Given the description of an element on the screen output the (x, y) to click on. 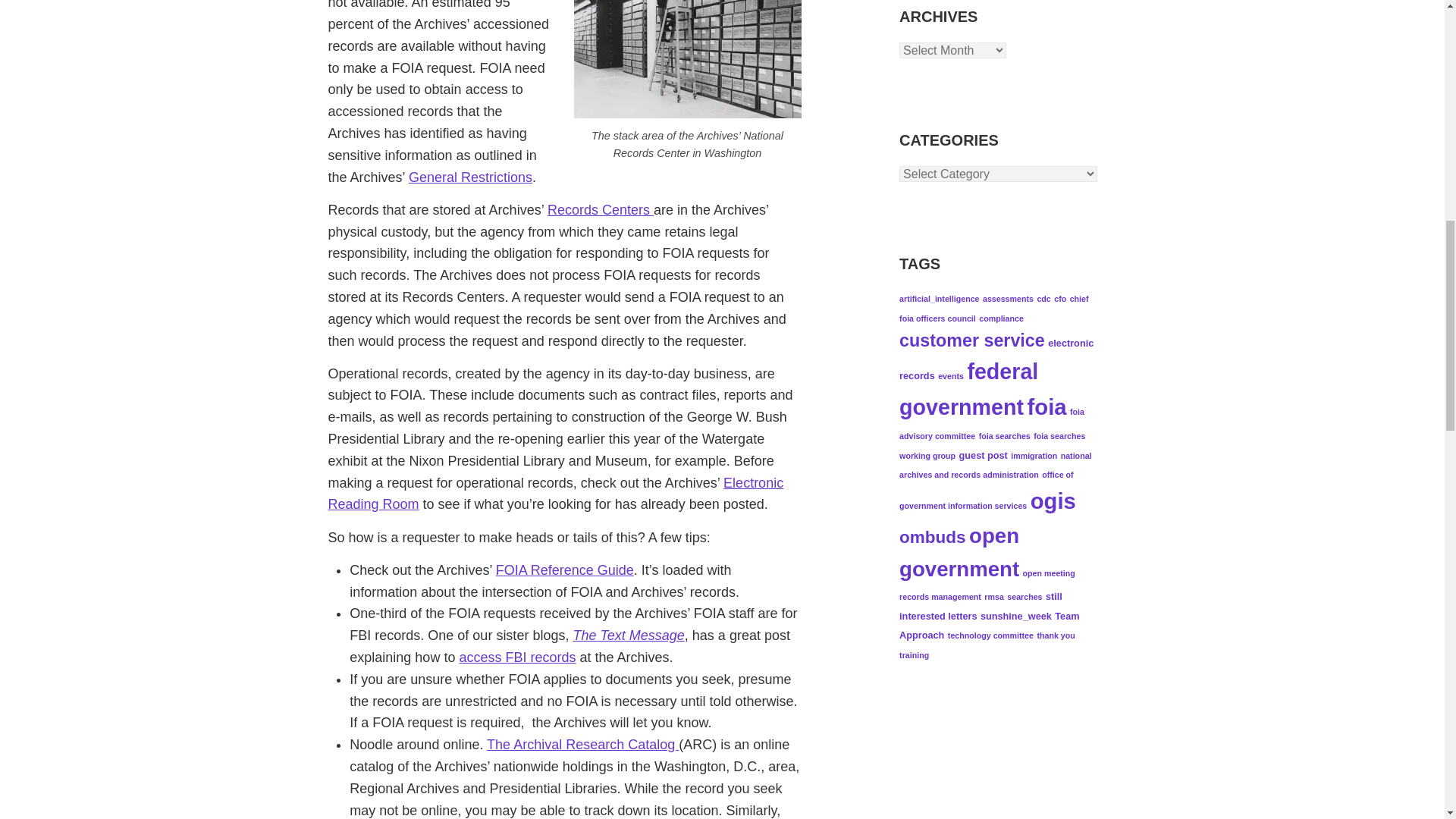
Electronic Reading Room (555, 493)
Records Centers (600, 209)
FOIA Reference Guide (564, 570)
The Text Message (628, 635)
compliance (1000, 317)
General Restrictions (470, 177)
electronic records (996, 359)
assessments (1007, 298)
cdc (1042, 298)
access FBI records (516, 657)
The Text Message (628, 635)
Electronic Reading Room (555, 493)
Archives' General Restrictions (470, 177)
foia (1045, 406)
cfo (1059, 298)
